Given the description of an element on the screen output the (x, y) to click on. 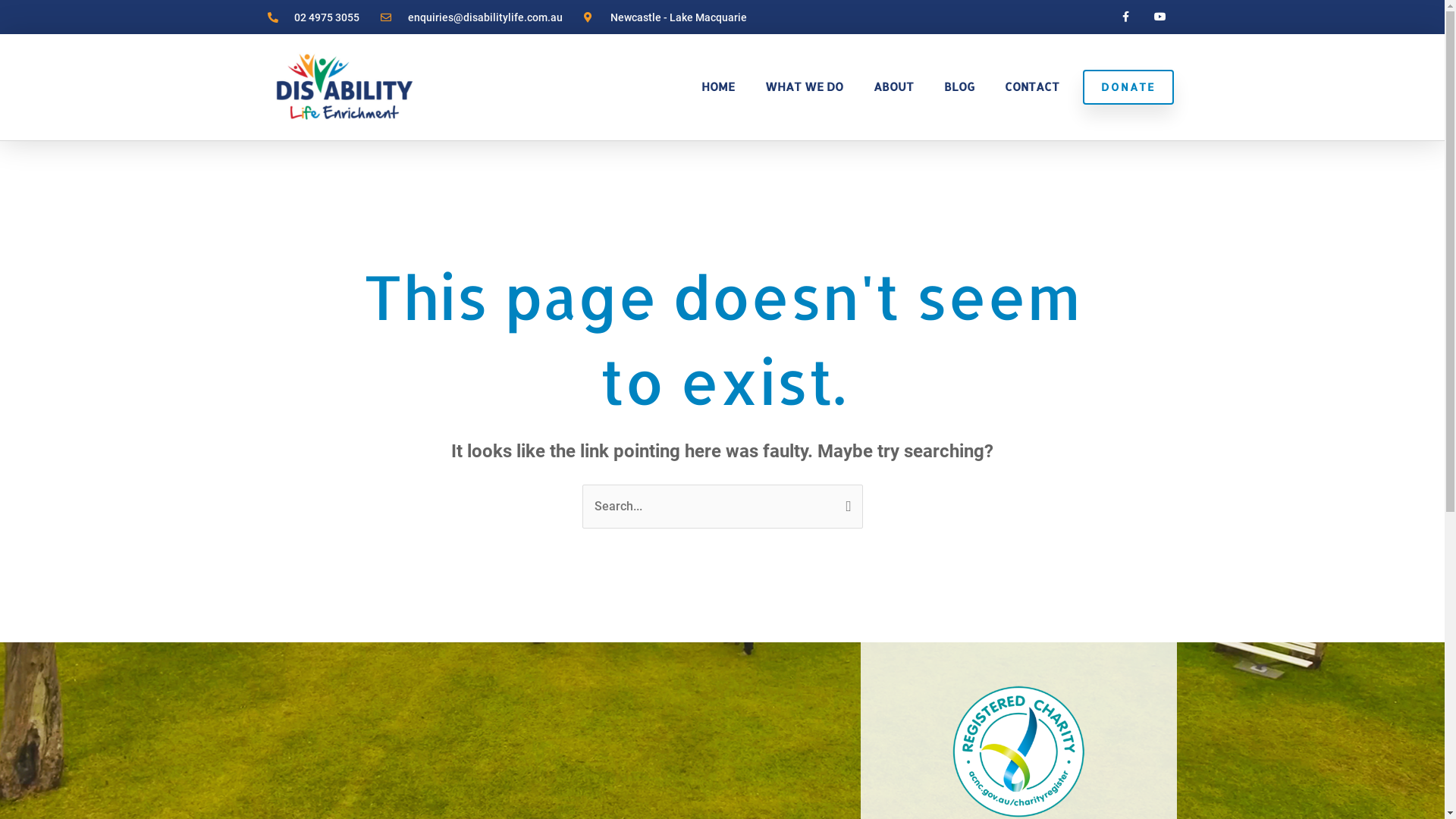
DONATE Element type: text (1127, 86)
02 4975 3055 Element type: text (312, 16)
enquiries@disabilitylife.com.au Element type: text (471, 16)
BLOG Element type: text (958, 87)
Search Element type: text (845, 499)
CONTACT Element type: text (1031, 87)
WHAT WE DO Element type: text (803, 87)
HOME Element type: text (717, 87)
ABOUT Element type: text (893, 87)
